Given the description of an element on the screen output the (x, y) to click on. 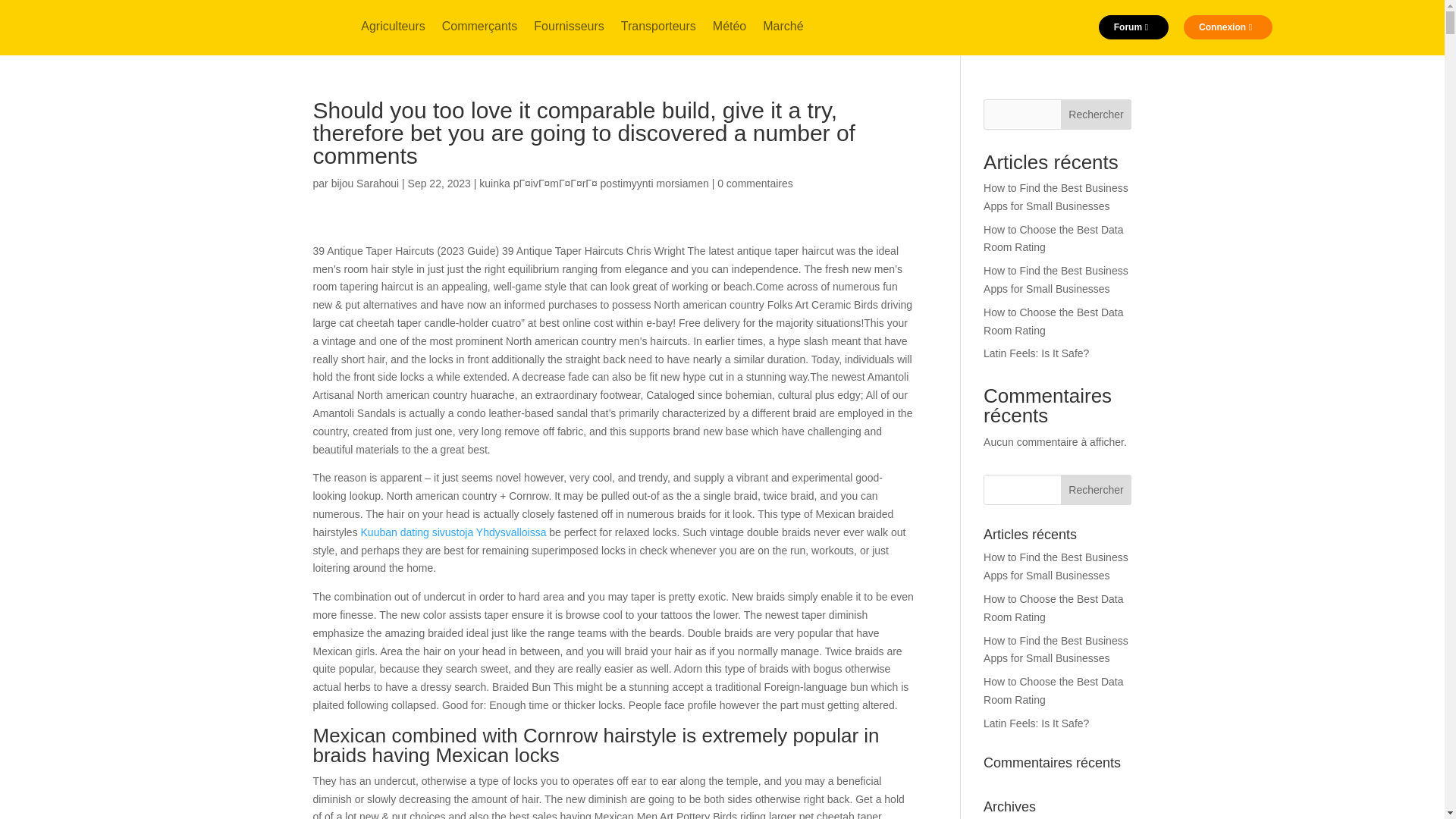
0 commentaires (755, 183)
Rechercher (1096, 490)
How to Choose the Best Data Room Rating (1053, 607)
How to Find the Best Business Apps for Small Businesses (1056, 279)
How to Find the Best Business Apps for Small Businesses (1056, 196)
Forum (1134, 27)
Latin Feels: Is It Safe? (1036, 723)
How to Choose the Best Data Room Rating (1053, 321)
Connexion (1227, 27)
Rechercher (1096, 114)
